Given the description of an element on the screen output the (x, y) to click on. 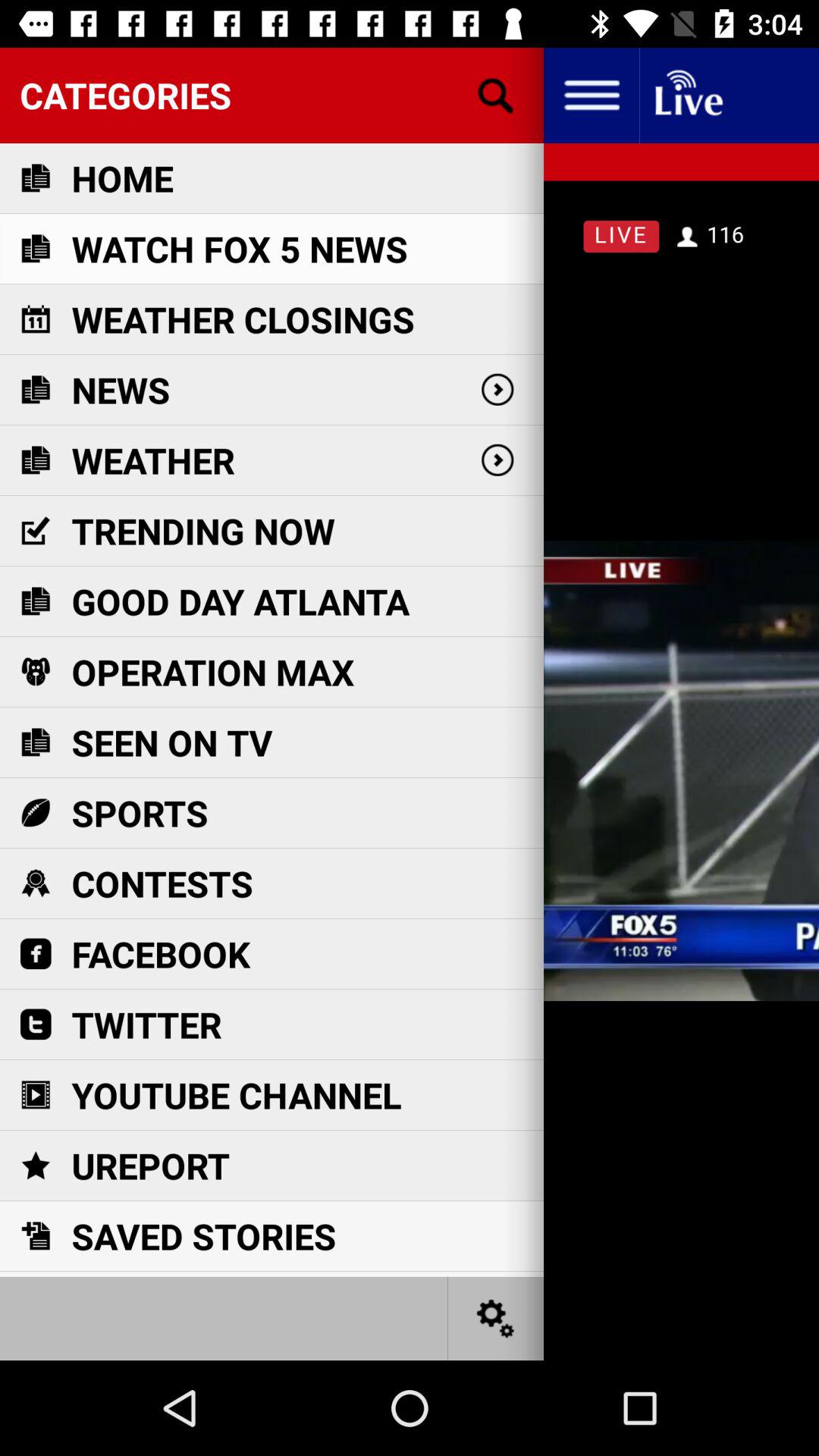
menu icon (591, 95)
